Given the description of an element on the screen output the (x, y) to click on. 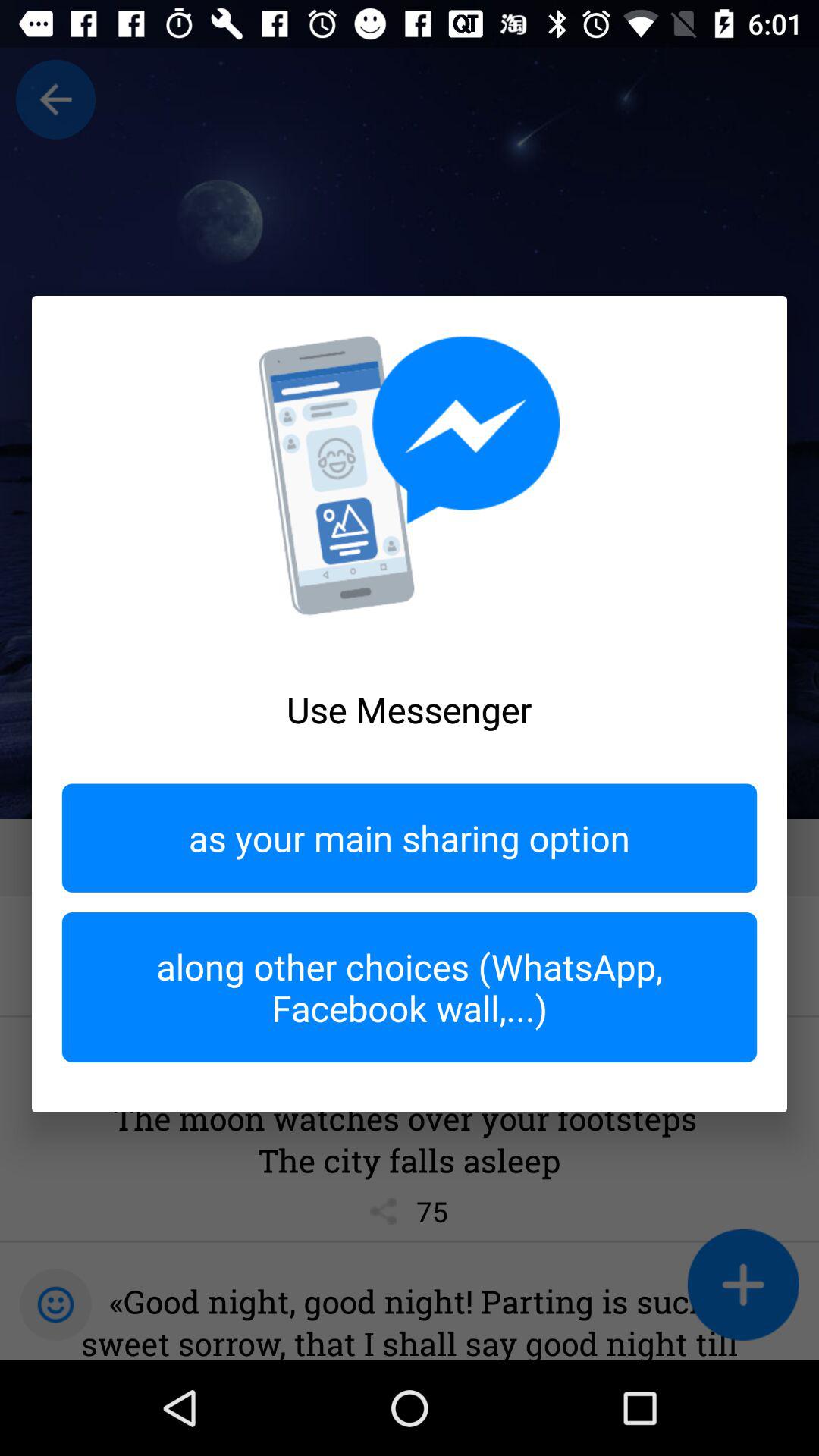
tap the item above along other choices icon (409, 837)
